Given the description of an element on the screen output the (x, y) to click on. 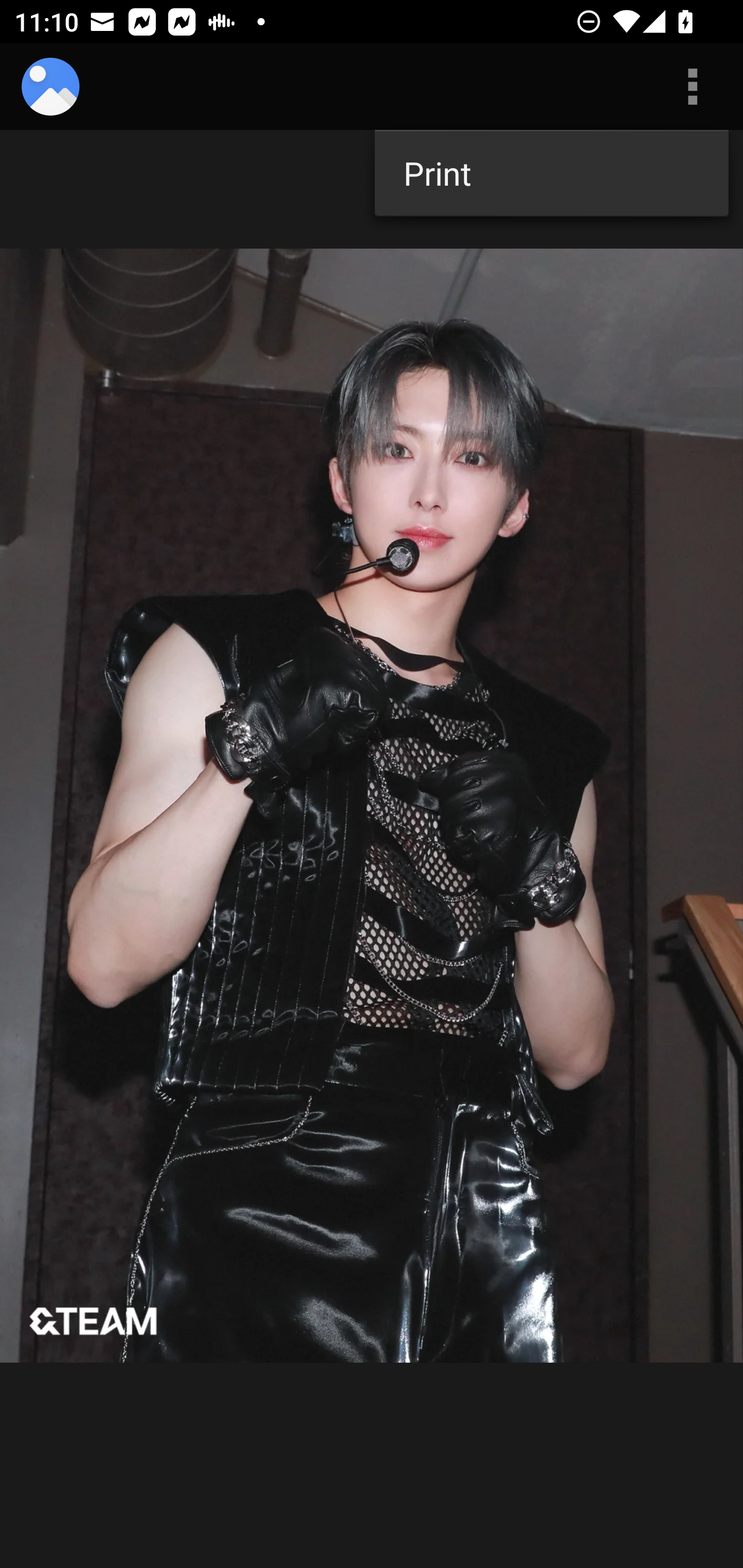
Print (551, 173)
